Given the description of an element on the screen output the (x, y) to click on. 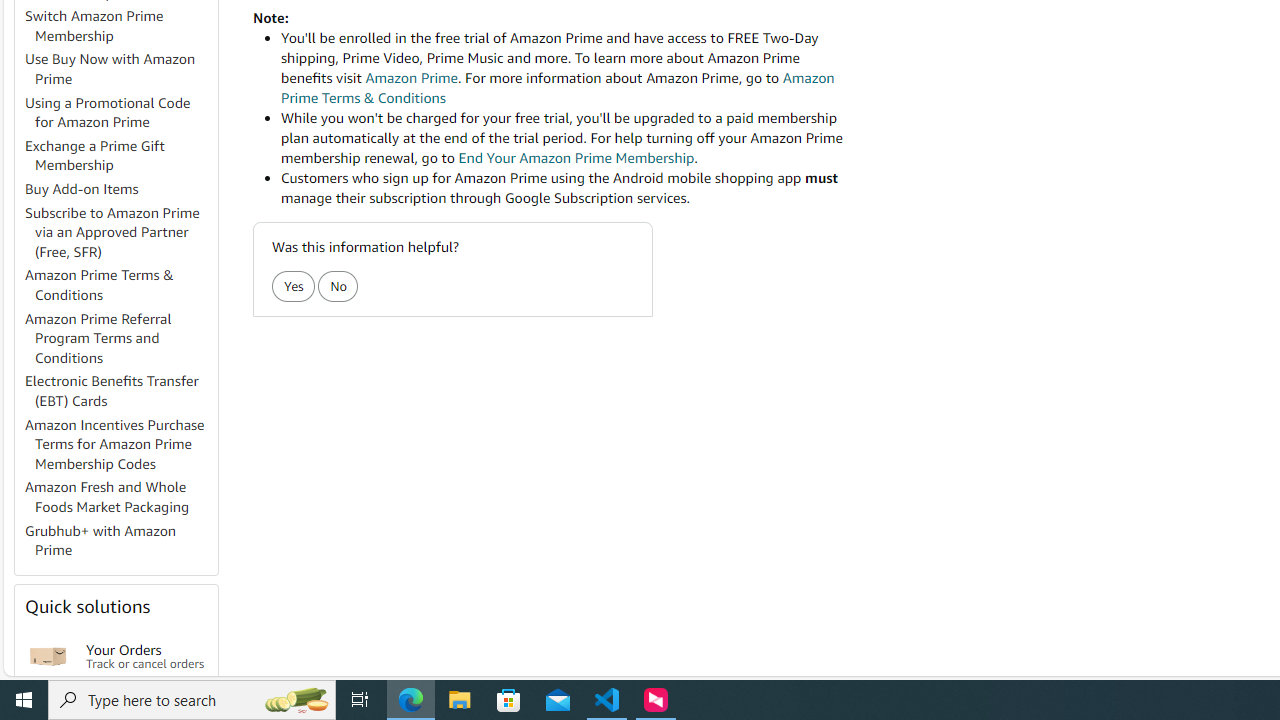
End Your Amazon Prime Membership (576, 158)
Using a Promotional Code for Amazon Prime (120, 112)
Switch Amazon Prime Membership (94, 25)
